Given the description of an element on the screen output the (x, y) to click on. 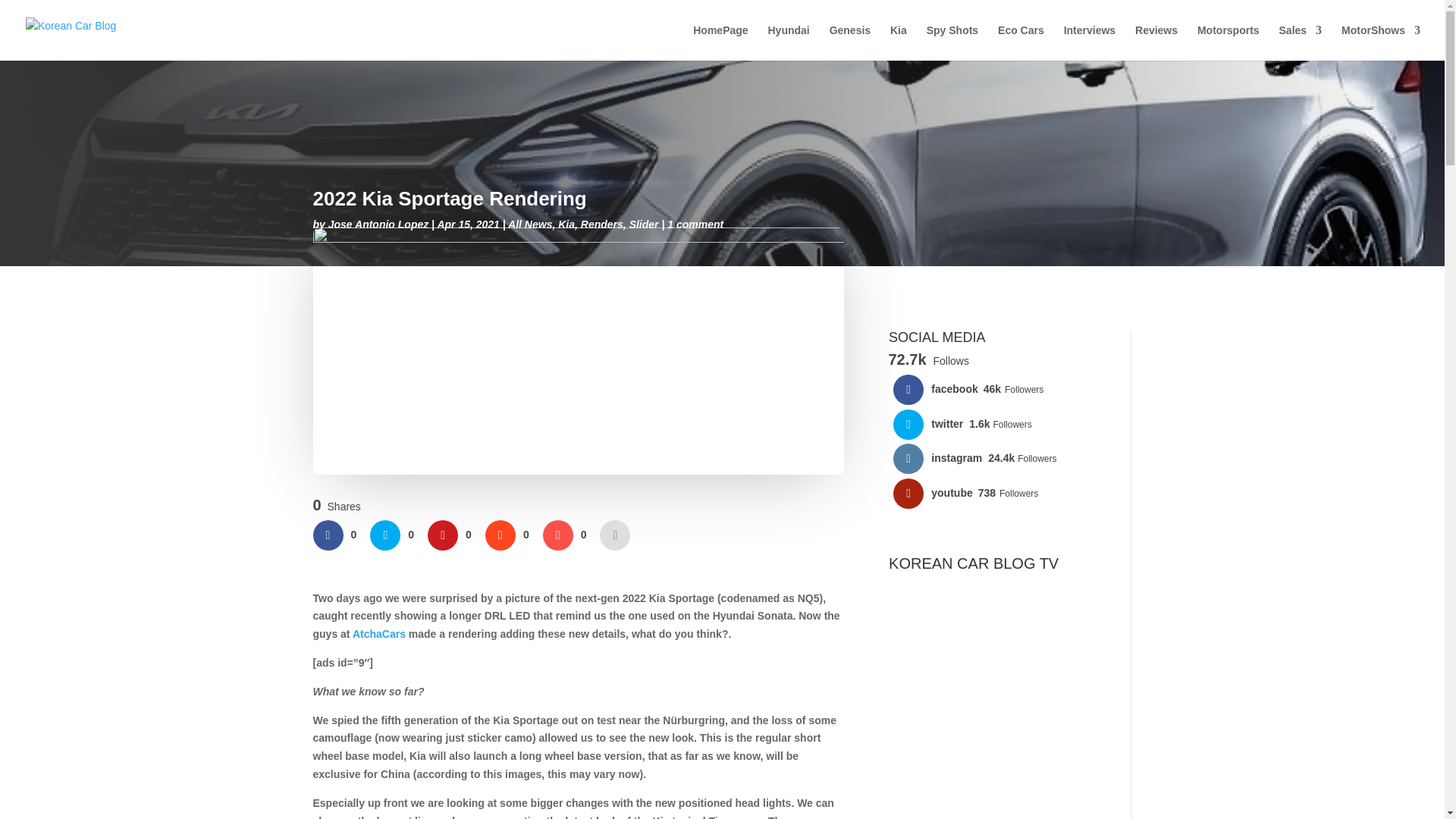
MotorShows (1380, 42)
2022 kia sportage nq5 rendering (578, 351)
Hyundai IONIQ 9 Spied Testing in the Arctic Circle (998, 719)
Posts by Jose Antonio Lopez (378, 224)
Interviews (1089, 42)
Genesis (849, 42)
HomePage (720, 42)
Spy Shots (952, 42)
Motorsports (1227, 42)
Sales (1300, 42)
